Given the description of an element on the screen output the (x, y) to click on. 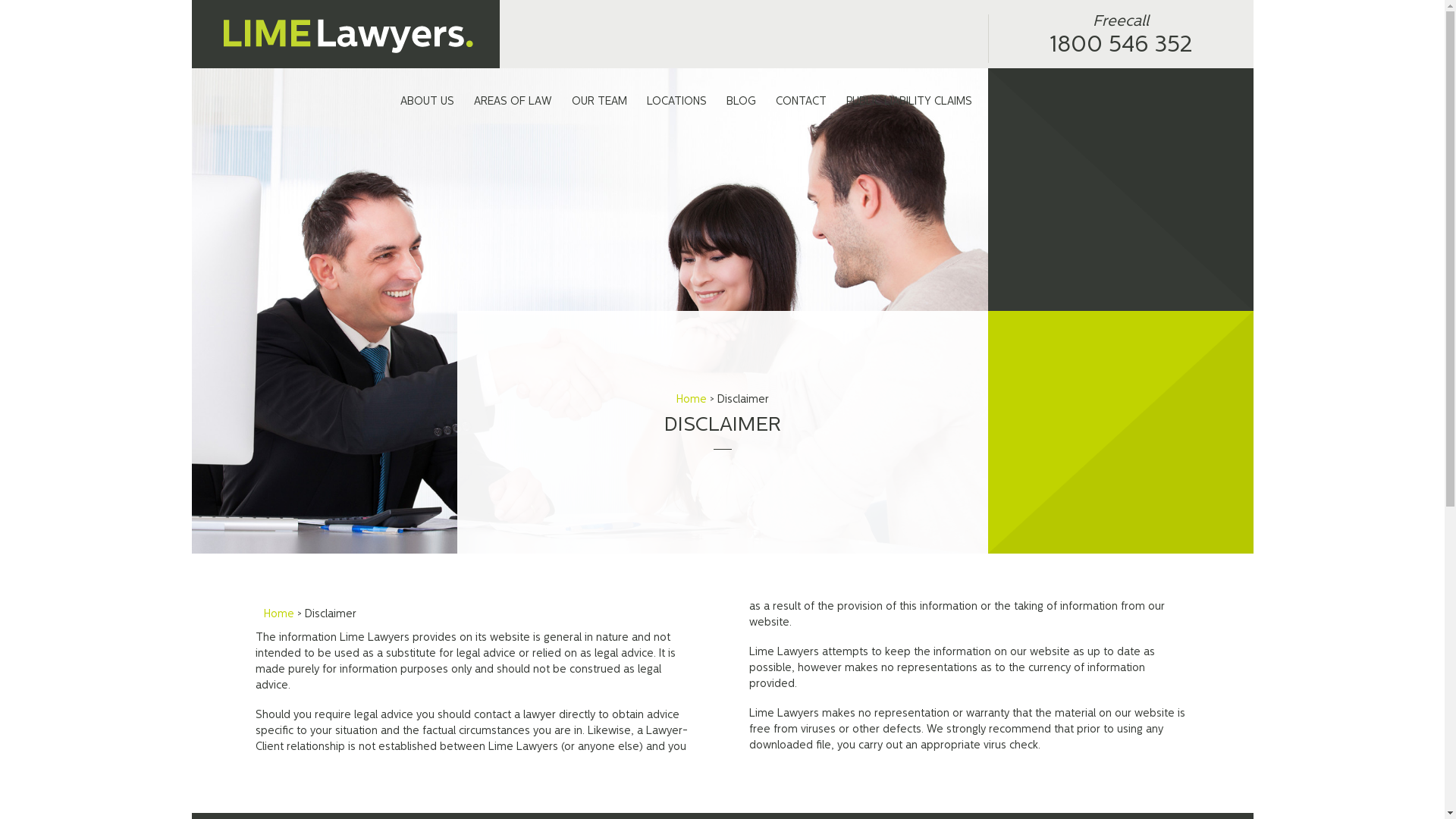
PUBLIC LIABILITY CLAIMS Element type: text (908, 102)
Freecall
1800 546 352 Element type: text (1119, 38)
BLOG Element type: text (740, 102)
Lime Lawyers Element type: text (344, 34)
Home Element type: text (278, 614)
ABOUT US Element type: text (426, 102)
Home Element type: text (691, 399)
CONTACT Element type: text (800, 102)
AREAS OF LAW Element type: text (512, 102)
OUR TEAM Element type: text (598, 102)
LOCATIONS Element type: text (676, 102)
